Given the description of an element on the screen output the (x, y) to click on. 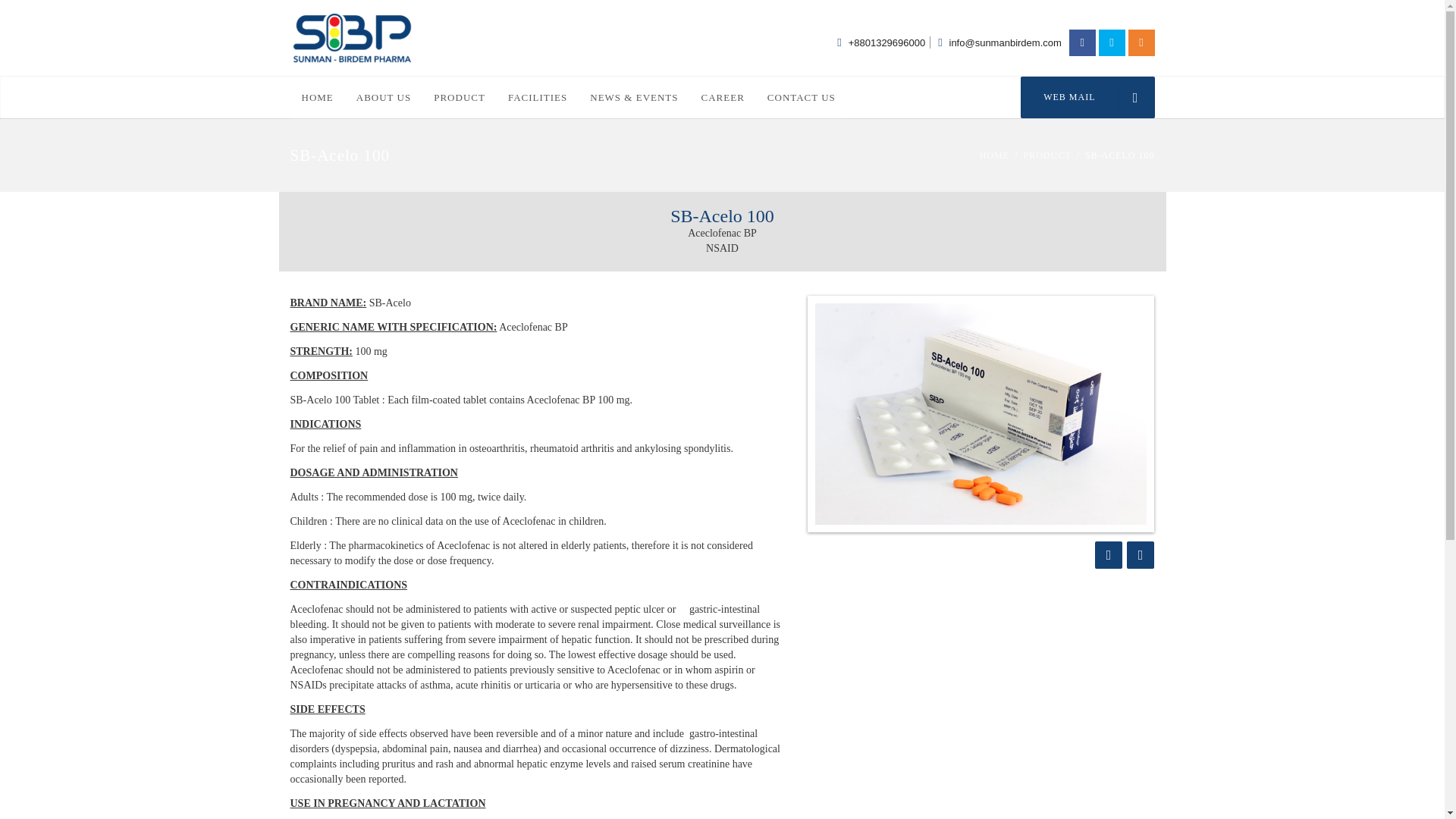
HOME (316, 96)
ABOUT US (383, 96)
Share on Facebook (1108, 554)
PRODUCT (459, 96)
Tweet (1140, 554)
